Given the description of an element on the screen output the (x, y) to click on. 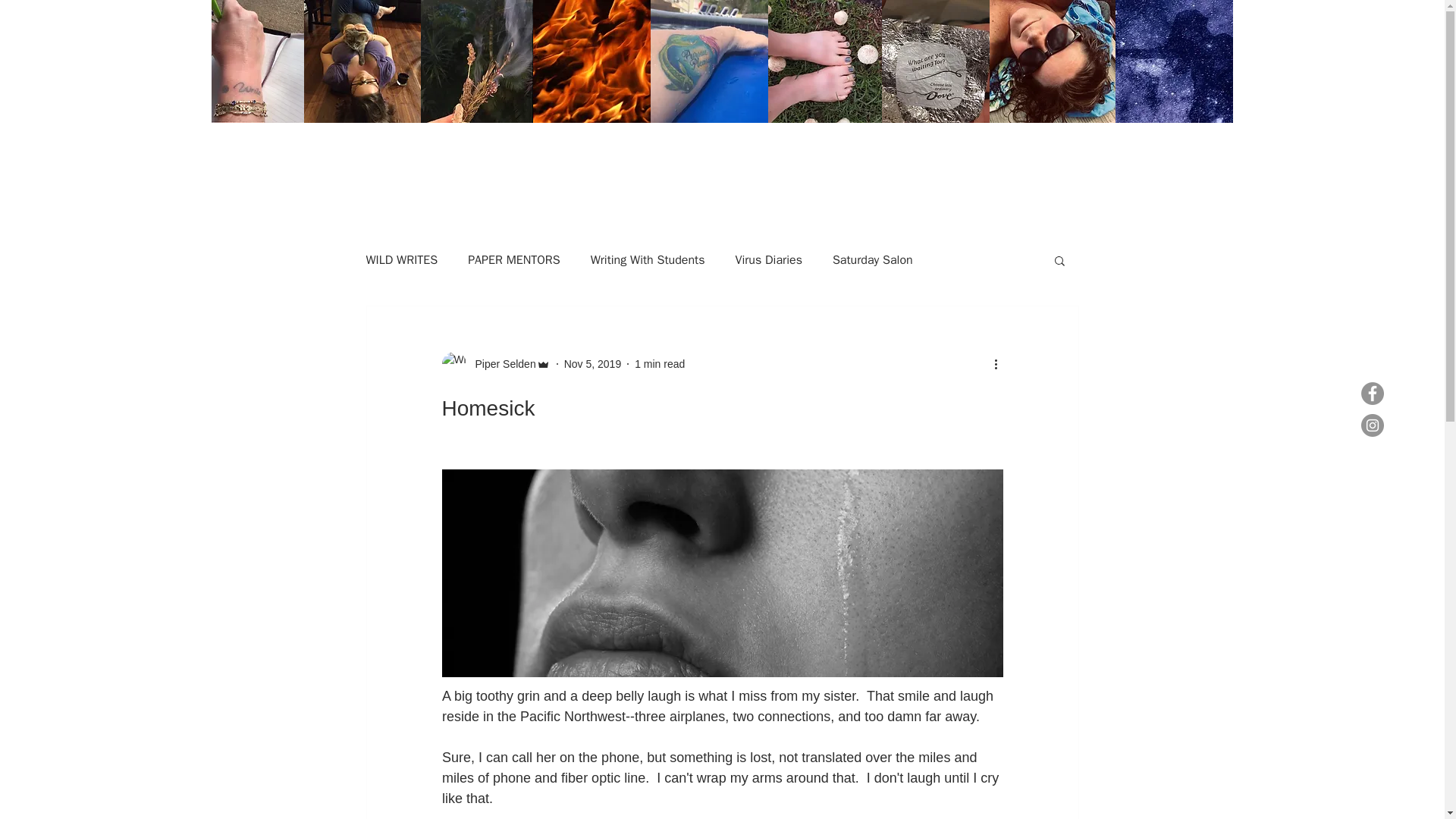
READ ME (752, 169)
WORKSHOPS AND RETREATS (927, 169)
HOME (685, 169)
Saturday Salon (872, 259)
WILD WRITES (401, 259)
Writing With Students (647, 259)
Virus Diaries (768, 259)
PAPER MENTORS (513, 259)
1 min read (659, 363)
Piper Selden (495, 363)
Piper Selden (500, 364)
Nov 5, 2019 (592, 363)
BIO (811, 169)
